Given the description of an element on the screen output the (x, y) to click on. 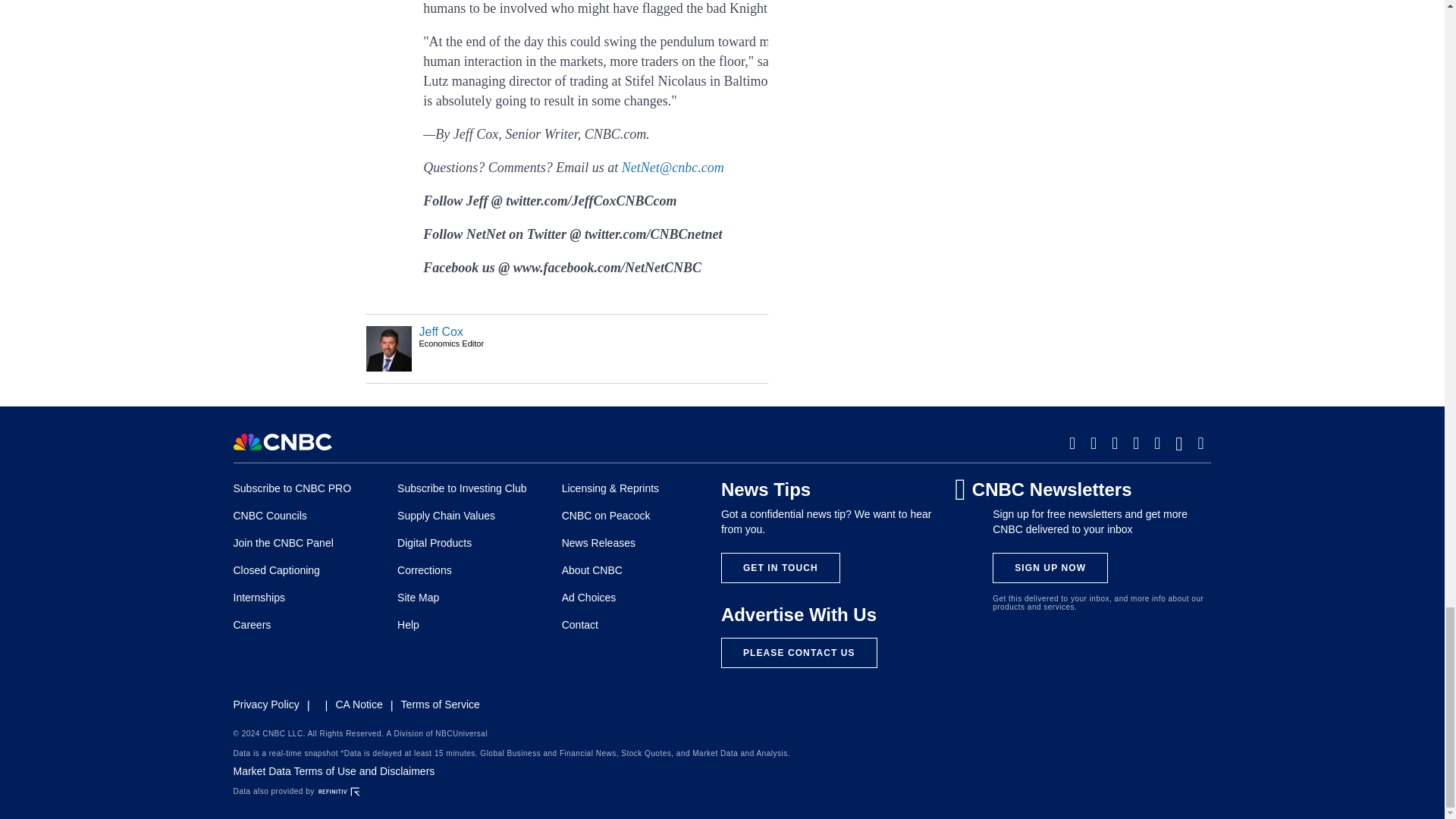
Internships (258, 597)
Corrections (424, 570)
Supply Chain Values (446, 515)
Subscribe to Investing Club (461, 488)
GET IN TOUCH (780, 567)
Contact (580, 624)
Subscribe to CNBC PRO (292, 488)
Join the CNBC Panel (282, 542)
Jeff Cox (441, 331)
SIGN UP NOW (1050, 567)
